Given the description of an element on the screen output the (x, y) to click on. 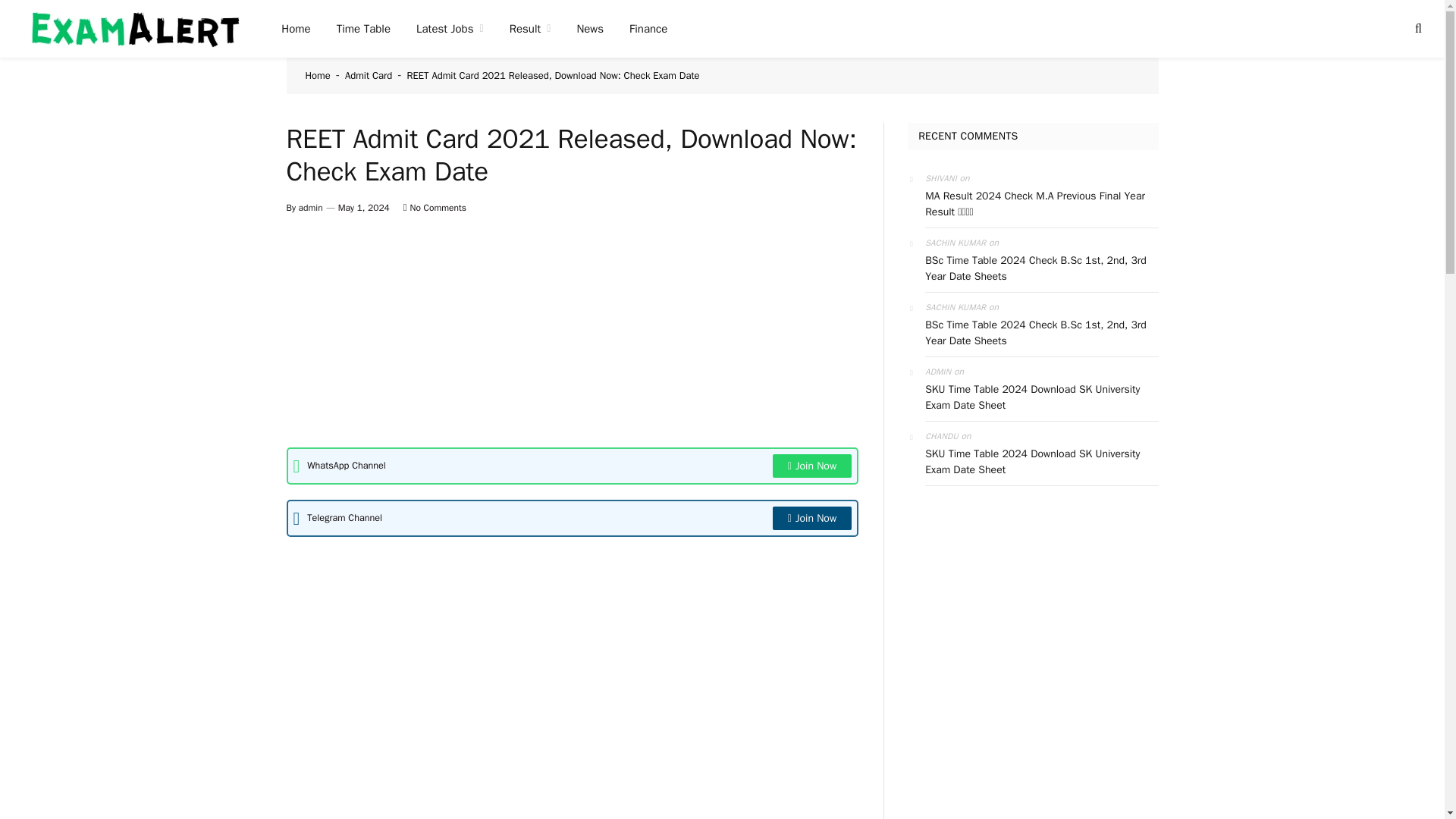
No Comments (434, 207)
Home (317, 74)
Join Now (812, 517)
Join Now (812, 465)
Finance (647, 28)
Home (295, 28)
Time Table (363, 28)
Latest Jobs (449, 28)
Result (530, 28)
News (589, 28)
